Given the description of an element on the screen output the (x, y) to click on. 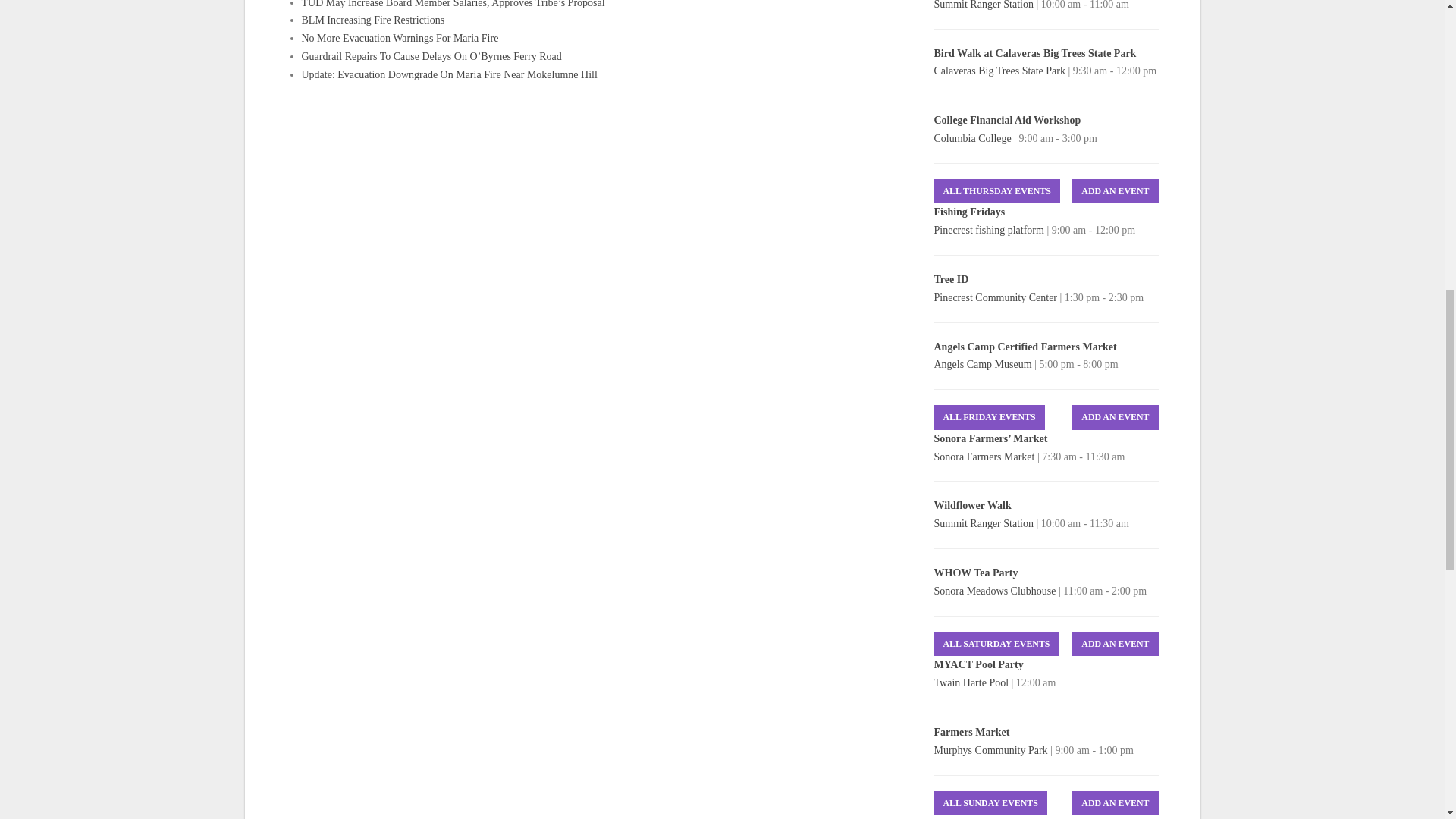
Add An Event (1114, 416)
Add An Event (1114, 802)
Add An Event (1114, 191)
All Friday Events (989, 416)
All Thursday Events (996, 191)
All Sunday Events (990, 802)
All Saturday Events (996, 643)
Add An Event (1114, 643)
